Given the description of an element on the screen output the (x, y) to click on. 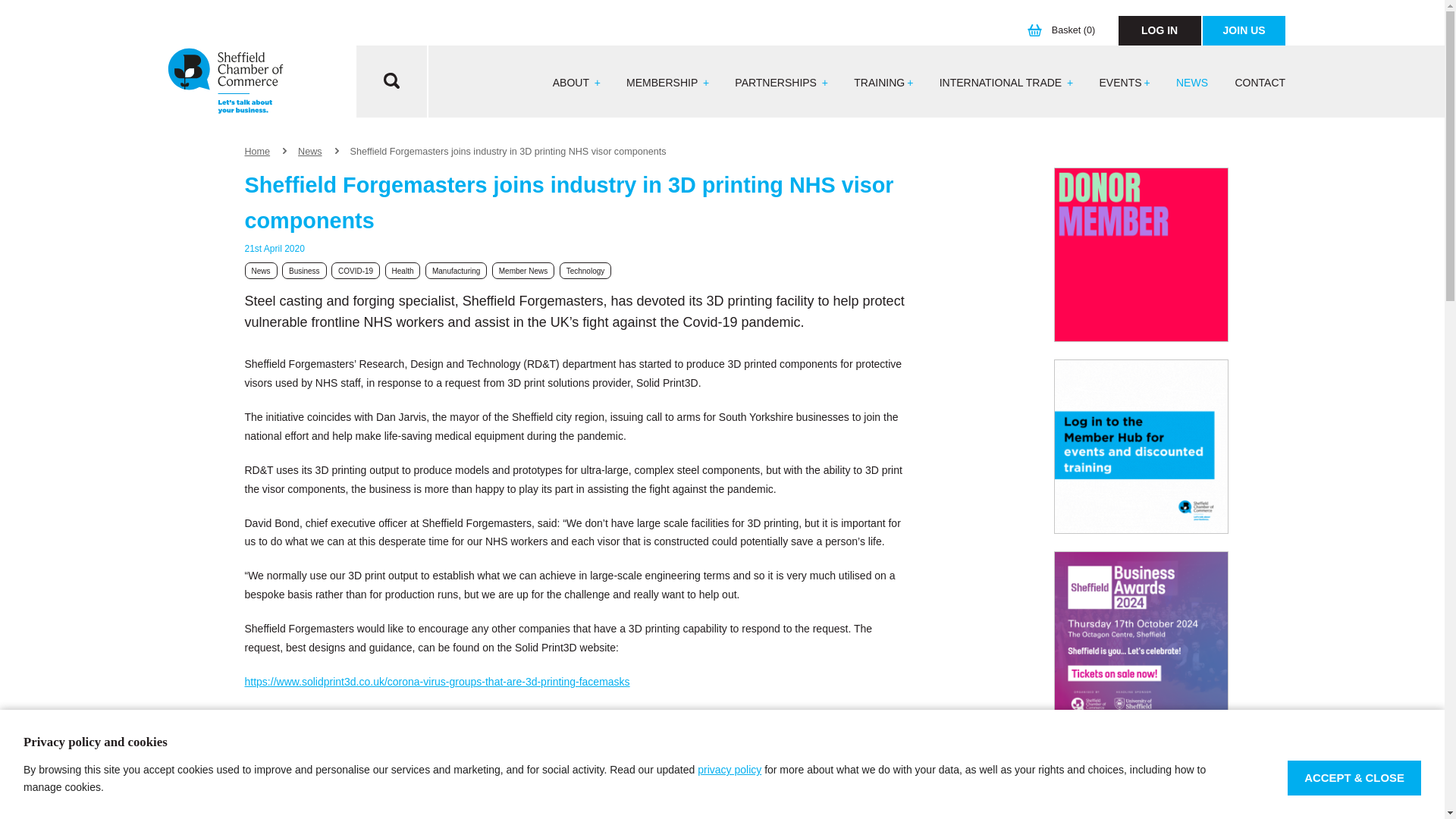
ABOUT (576, 83)
LOG IN (1159, 30)
Log In (1159, 30)
View Your Basket (1064, 30)
Join Us (1243, 30)
About (576, 83)
privacy policy (729, 769)
JOIN US (1243, 30)
Sheffield Chamber (225, 81)
privacy policy (729, 769)
